Given the description of an element on the screen output the (x, y) to click on. 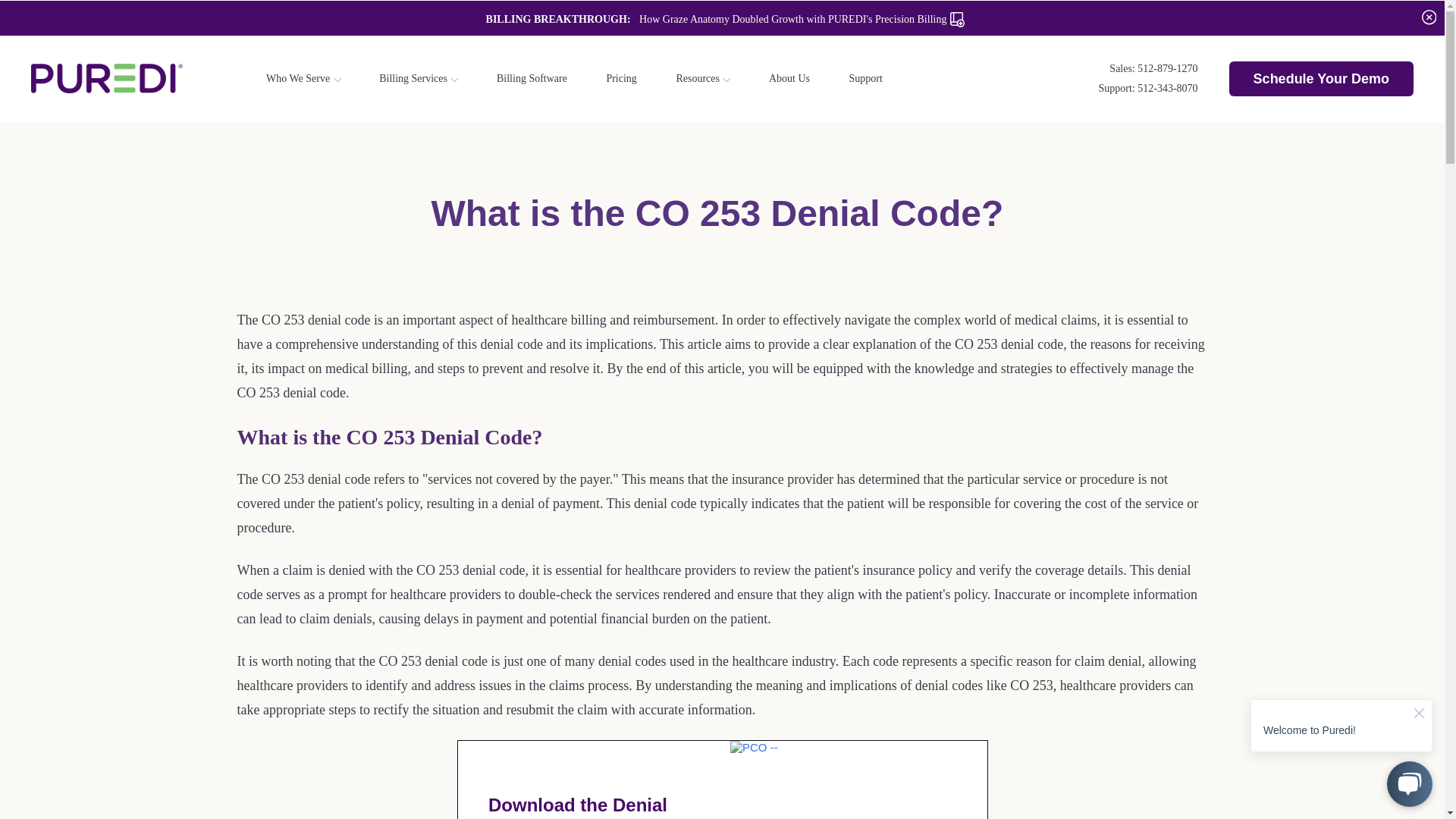
Pricing (620, 78)
About Us (788, 78)
Resources (697, 78)
BILLING BREAKTHROUGH: (555, 19)
Embedded CTA (722, 779)
Billing Services (412, 78)
Who We Serve (298, 78)
Schedule Your Demo (1320, 77)
Billing Software (531, 78)
close (1428, 16)
Support (865, 78)
